Given the description of an element on the screen output the (x, y) to click on. 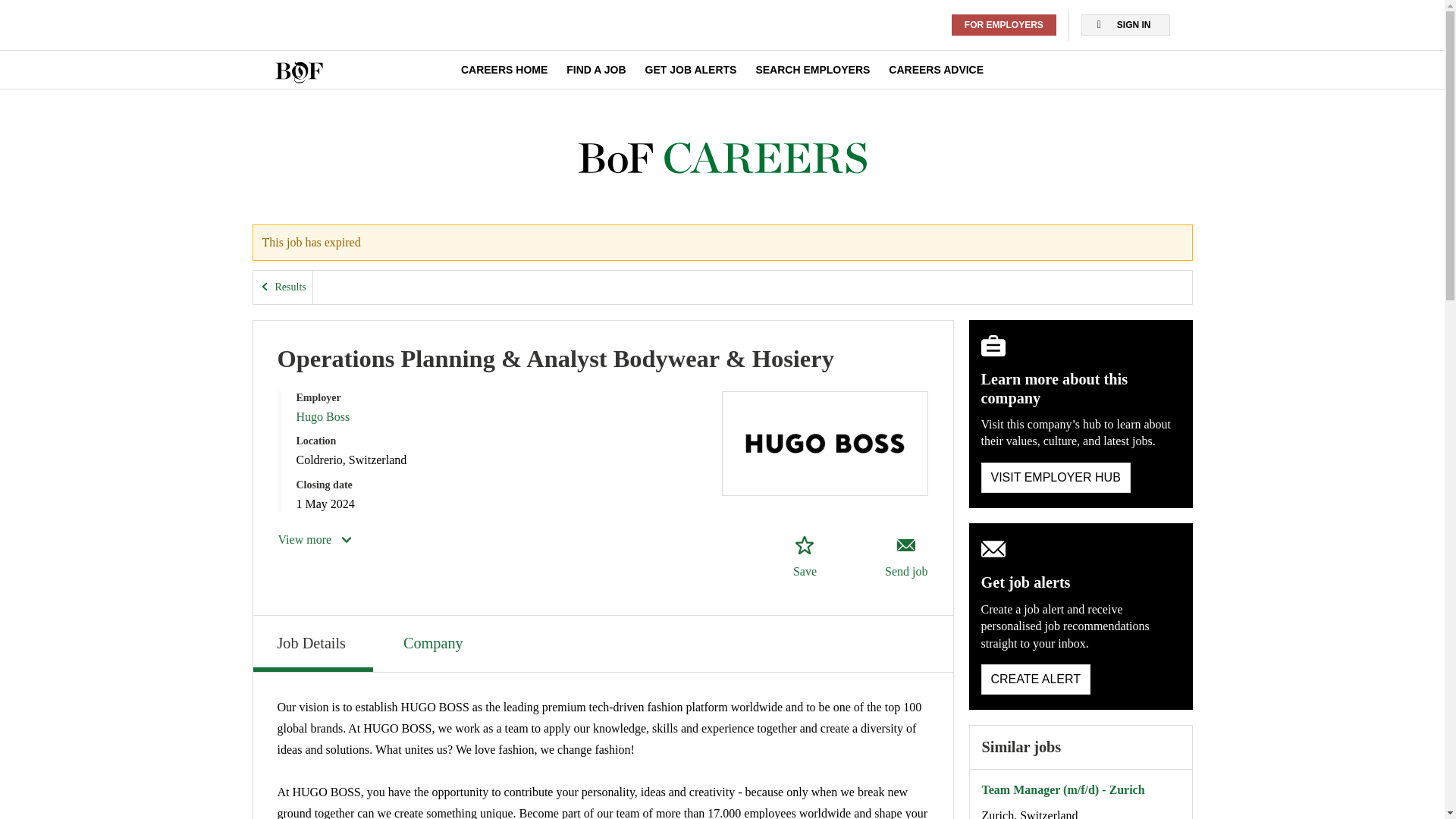
Company (434, 641)
BoF Careers (722, 158)
FIND A JOB (596, 69)
Send job (905, 557)
Hugo Boss (322, 416)
Job Details (312, 643)
VISIT EMPLOYER HUB (804, 557)
CAREERS ADVICE (1056, 477)
View more (936, 69)
CREATE ALERT (315, 539)
SEARCH EMPLOYERS (1035, 679)
FOR EMPLOYERS (812, 69)
CAREERS HOME (1004, 25)
Results (504, 69)
